Given the description of an element on the screen output the (x, y) to click on. 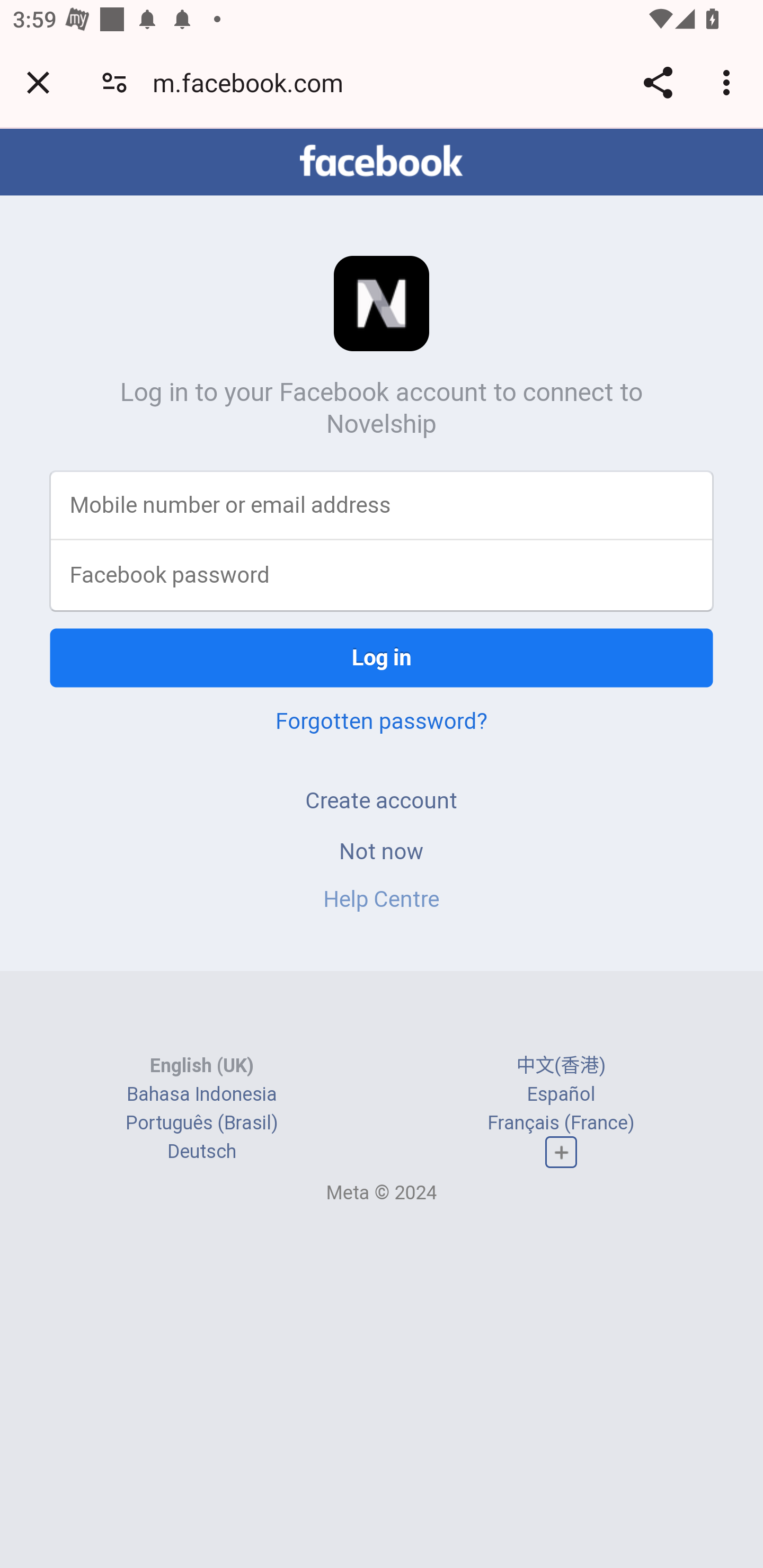
Close tab (38, 82)
Share (657, 82)
Customize and control Google Chrome (729, 82)
Connection is secure (114, 81)
m.facebook.com (254, 81)
facebook (381, 160)
Log in (381, 657)
Forgotten password? (381, 720)
Create account (381, 800)
Not now (381, 850)
Help Centre (381, 898)
中文(香港) (561, 1065)
Bahasa Indonesia (201, 1093)
Español (560, 1093)
Português (Brasil) (201, 1122)
Français (France) (560, 1122)
Complete list of languages (560, 1152)
Deutsch (201, 1151)
